Given the description of an element on the screen output the (x, y) to click on. 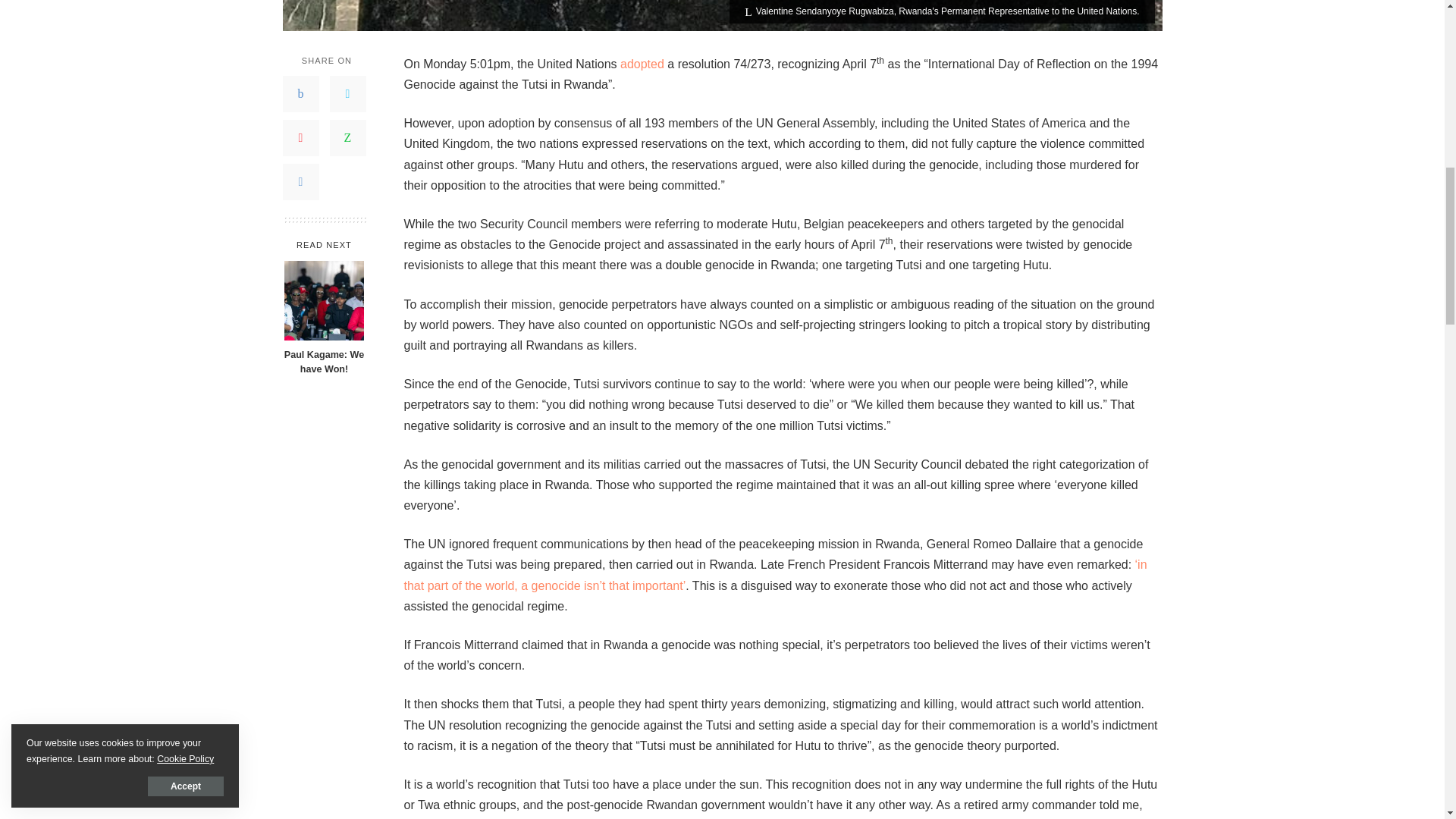
Facebook (300, 94)
WhatsApp (347, 137)
Twitter (347, 94)
Pinterest (300, 137)
